Given the description of an element on the screen output the (x, y) to click on. 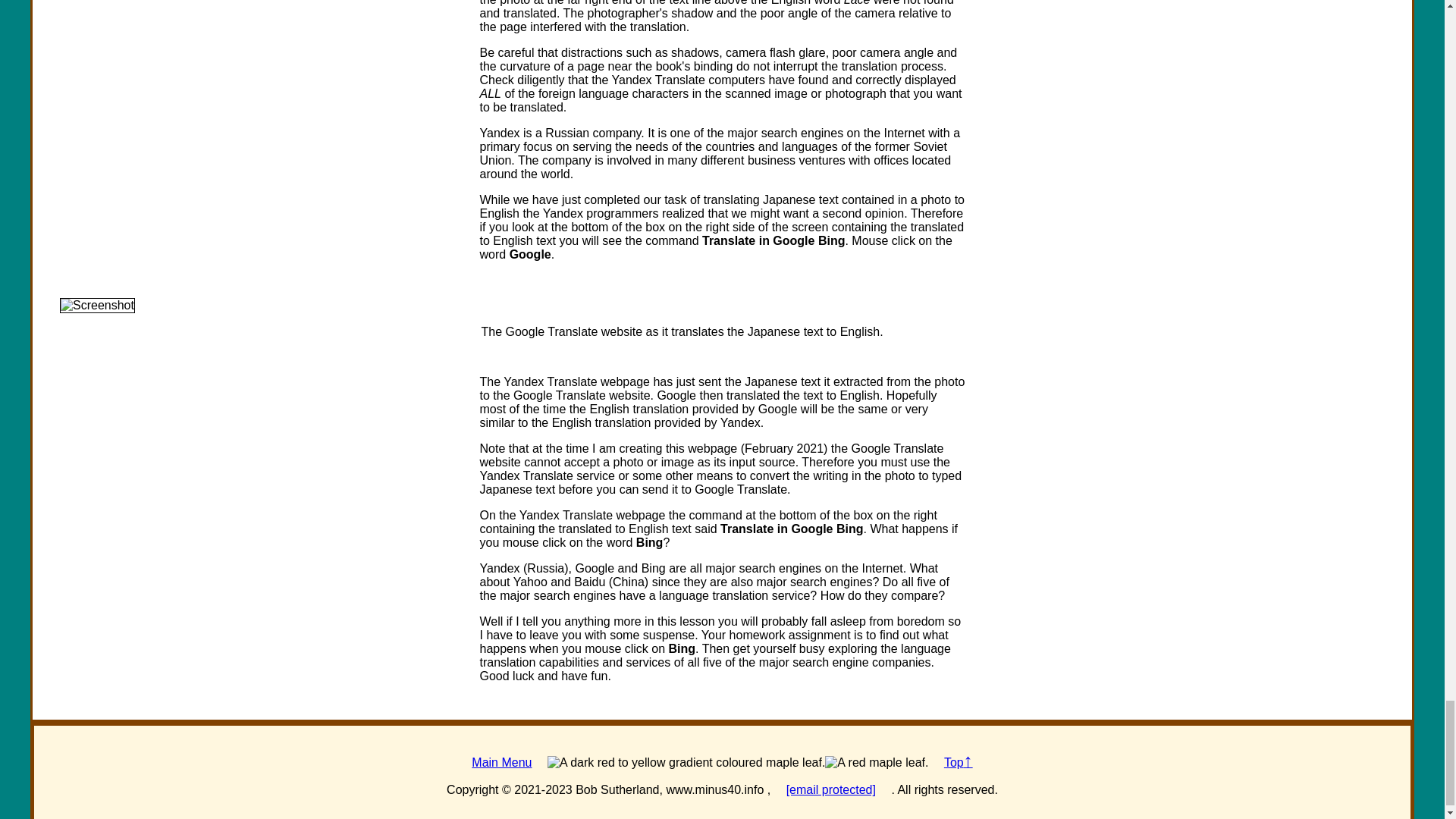
Main Menu (501, 762)
